Given the description of an element on the screen output the (x, y) to click on. 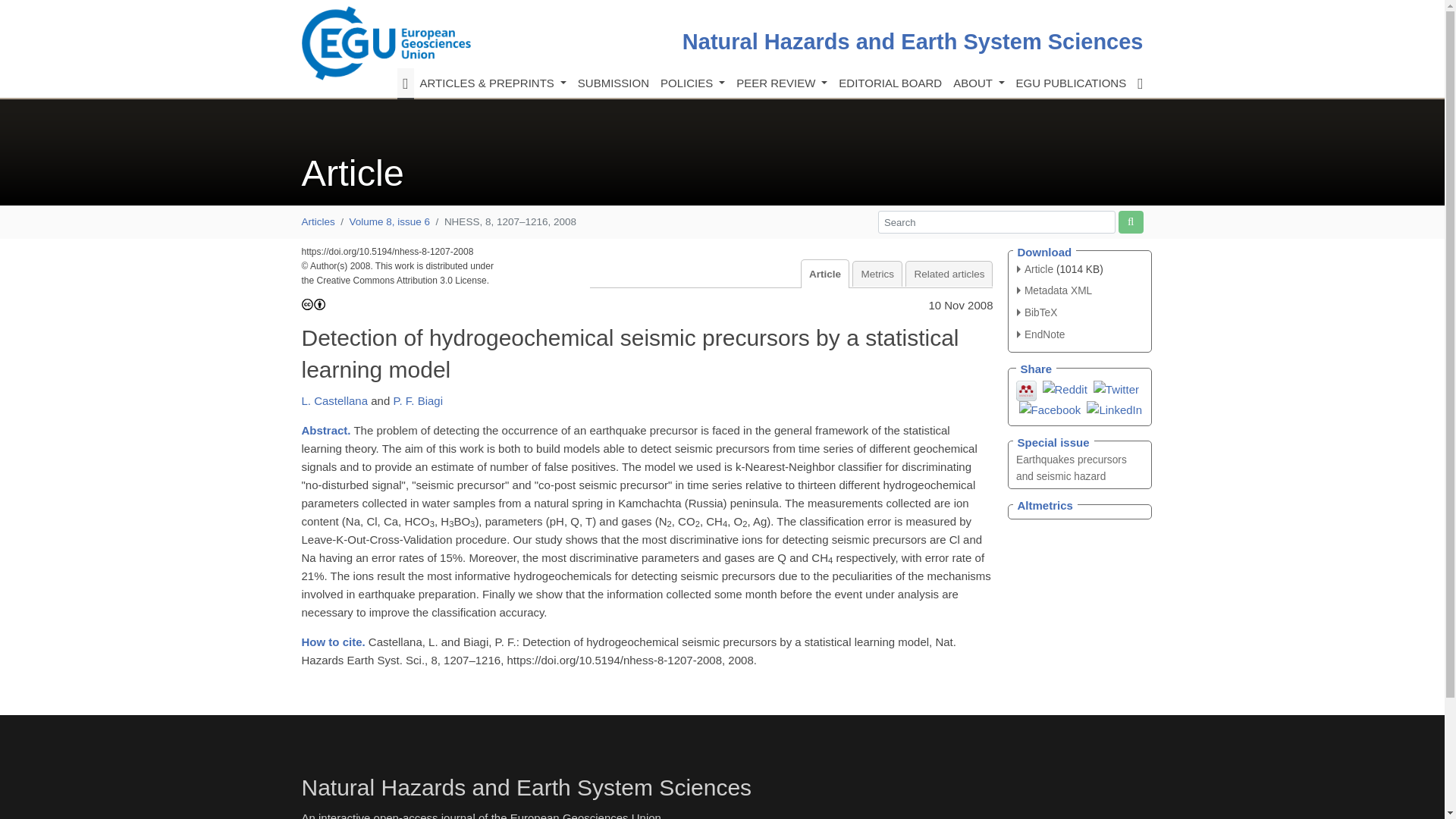
Mendeley (1026, 389)
Reddit (1064, 388)
Natural Hazards and Earth System Sciences (912, 41)
XML Version (1054, 290)
Twitter (1115, 388)
SUBMISSION (612, 83)
POLICIES (691, 83)
PEER REVIEW (781, 83)
Start site search (1130, 221)
